Given the description of an element on the screen output the (x, y) to click on. 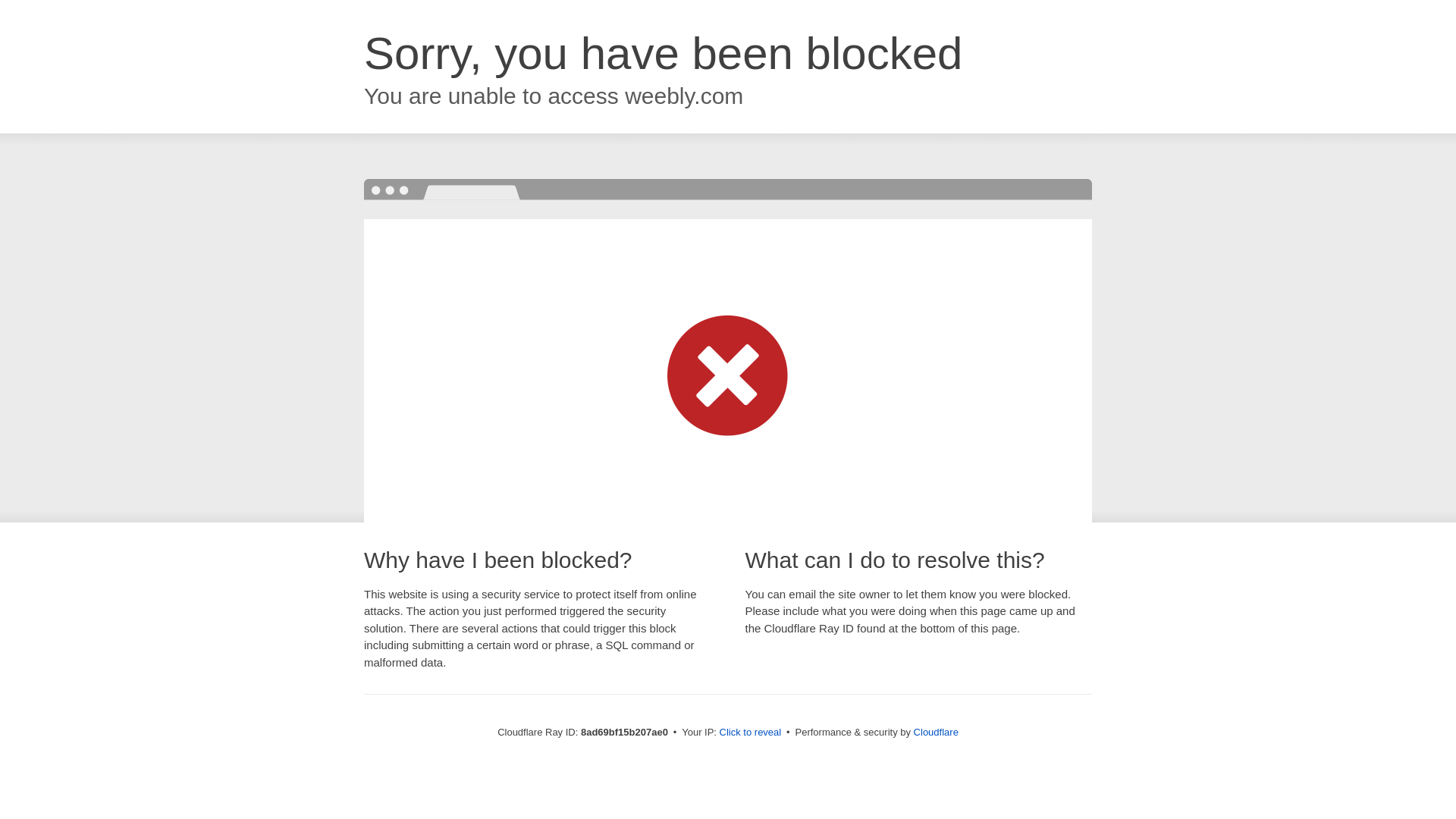
Cloudflare (936, 731)
Click to reveal (750, 732)
